Given the description of an element on the screen output the (x, y) to click on. 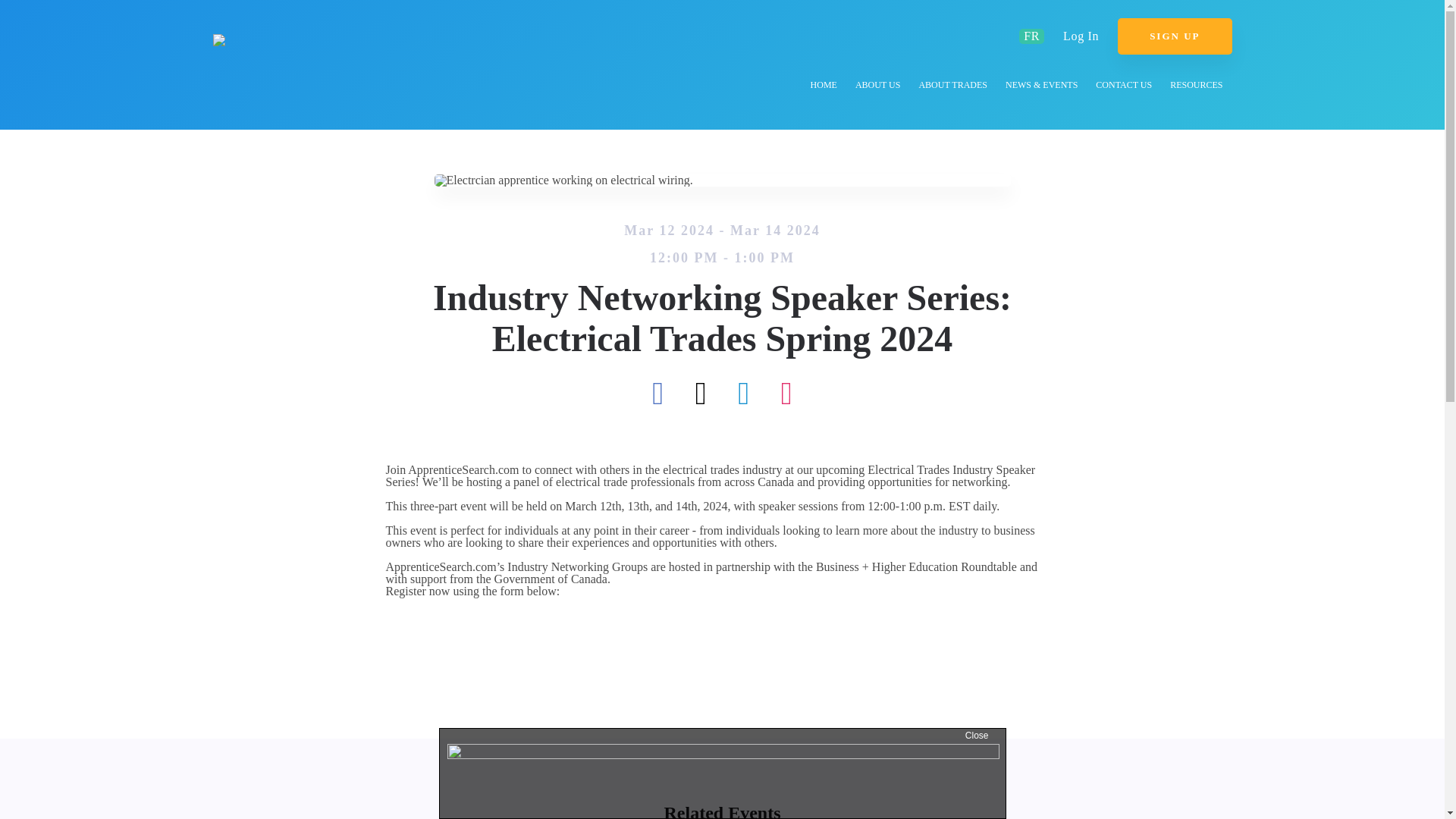
Log In (1080, 36)
ABOUT TRADES (951, 87)
HOME (823, 87)
RESOURCES (1195, 87)
FR (1031, 36)
ABOUT US (876, 87)
CONTACT US (1123, 87)
FR (1031, 36)
SIGN UP (1174, 36)
